Given the description of an element on the screen output the (x, y) to click on. 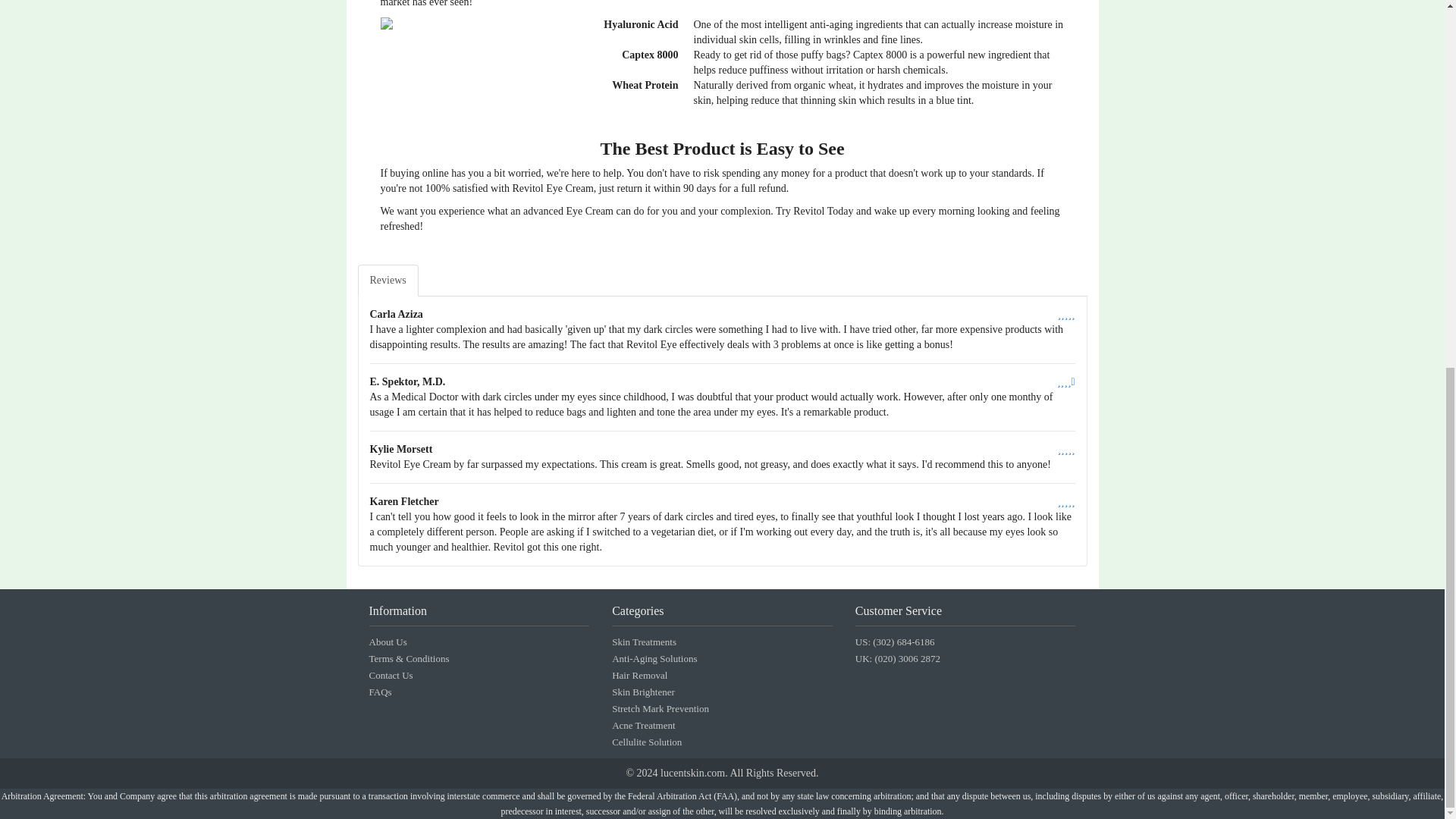
About Us (387, 641)
FAQs (379, 691)
Skin Brightener (643, 691)
Cellulite Solution (646, 741)
Skin Treatments (644, 641)
Contact Us (390, 674)
Acne Treatment (643, 725)
Hair Removal (638, 674)
Reviews (388, 280)
Stretch Mark Prevention (660, 708)
